Given the description of an element on the screen output the (x, y) to click on. 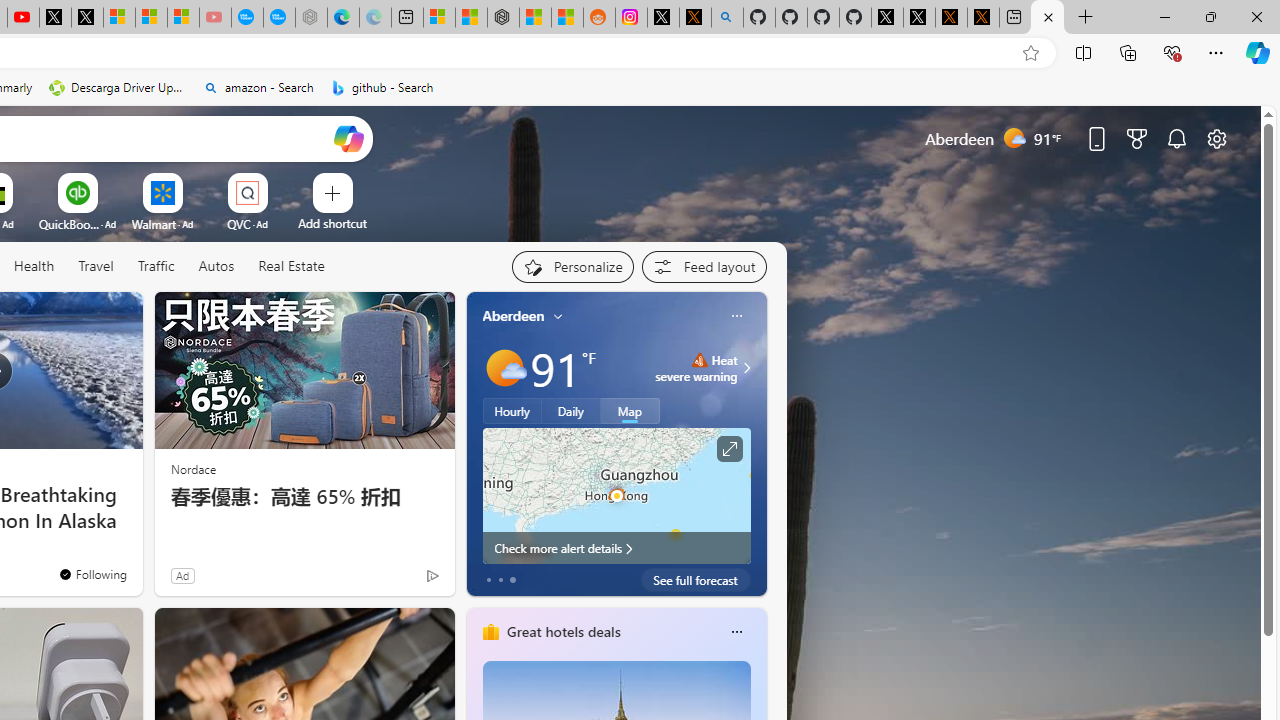
Larger map  (616, 495)
Log in to X / X (663, 17)
Page settings (1216, 138)
Check more alert details (616, 547)
tab-2 (511, 579)
Gloom - YouTube - Sleeping (215, 17)
Personalize your feed" (571, 266)
github - Search (727, 17)
Profile / X (886, 17)
Autos (215, 265)
